Given the description of an element on the screen output the (x, y) to click on. 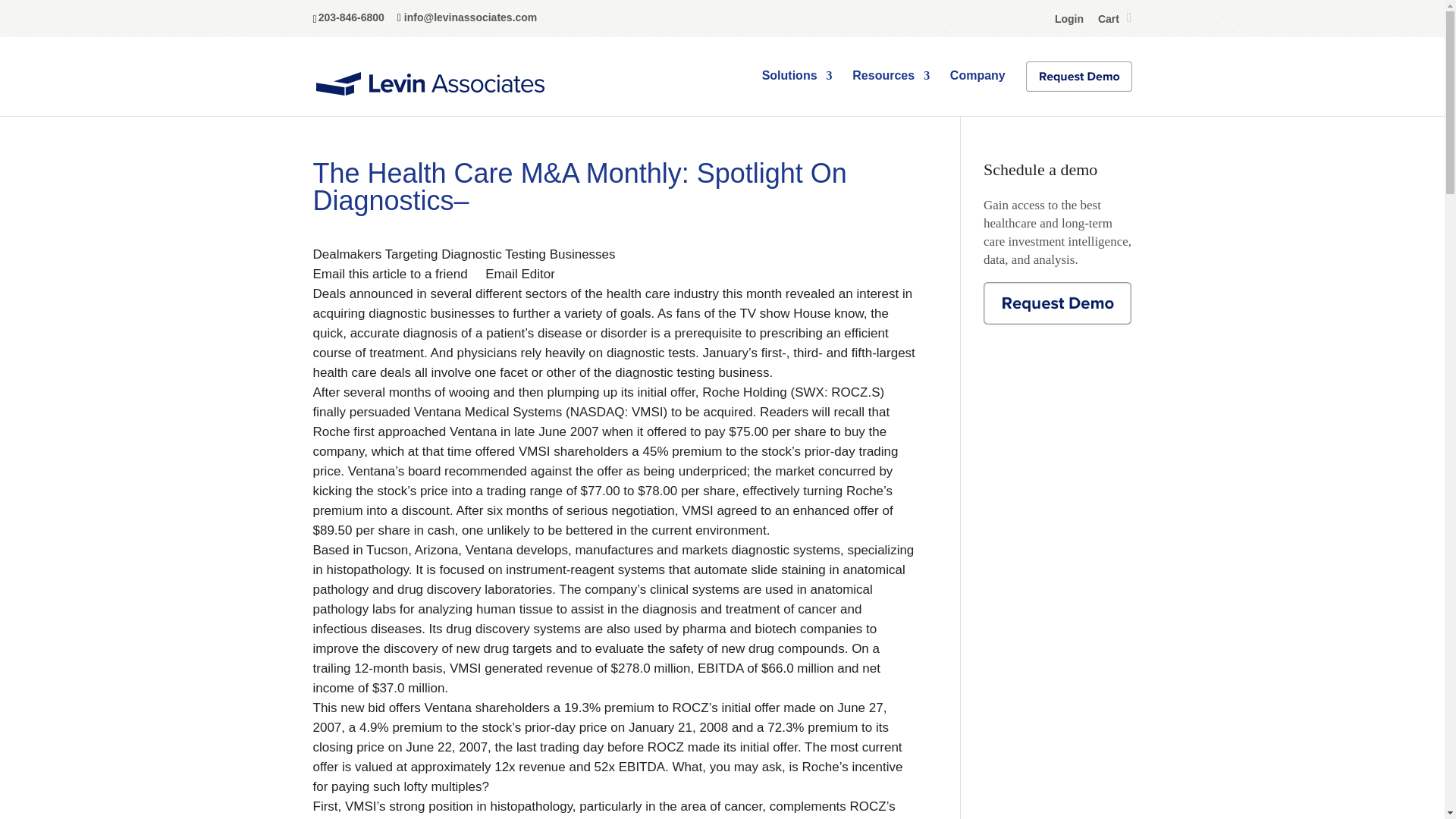
Solutions (796, 87)
Cart (1114, 21)
Company (978, 87)
Resources (890, 87)
Login (1068, 21)
